Given the description of an element on the screen output the (x, y) to click on. 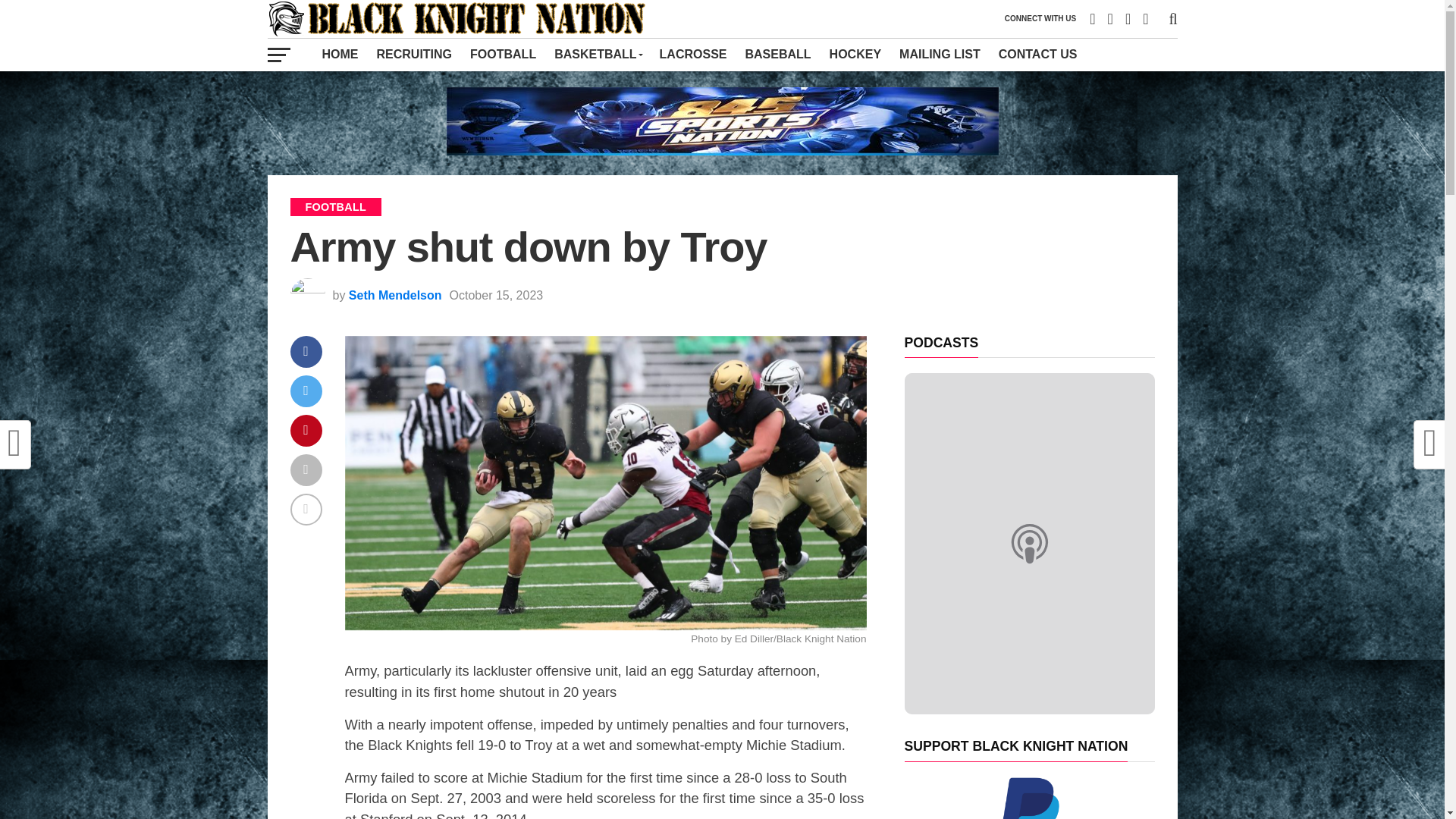
BASKETBALL (596, 54)
Posts by Seth Mendelson (395, 295)
HOME (339, 54)
FOOTBALL (502, 54)
RECRUITING (413, 54)
